Given the description of an element on the screen output the (x, y) to click on. 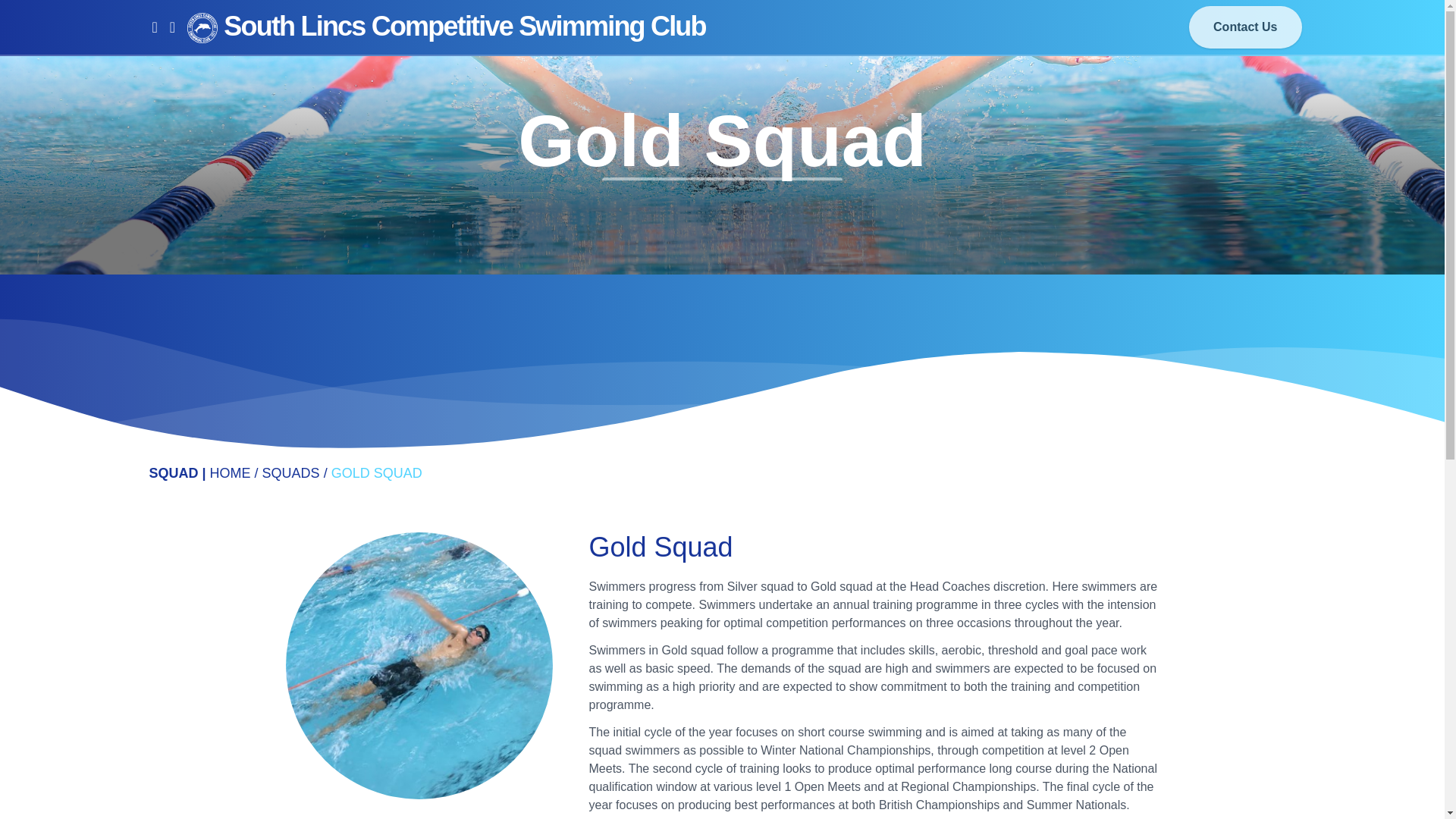
Coaches (97, 208)
Meets (97, 284)
Contact Us (1245, 26)
HOME (229, 473)
Squads (185, 18)
Juniors (116, 132)
SQUADS (291, 473)
News (116, 94)
Home (116, 56)
Contact Us (116, 322)
Menu (116, 18)
South Lincs Competitive Swimming Club (446, 27)
Squads (97, 170)
About Us (97, 246)
